Given the description of an element on the screen output the (x, y) to click on. 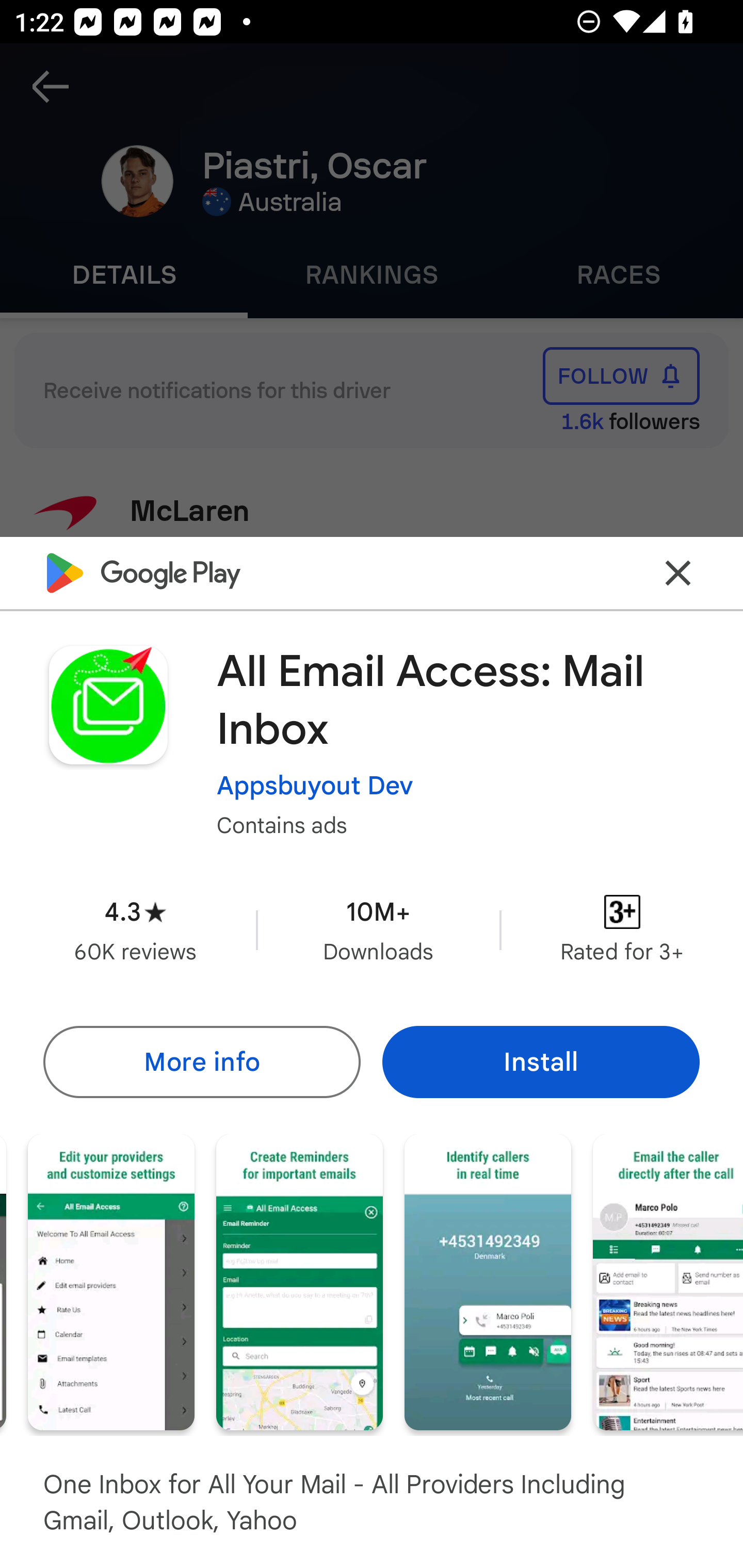
Close (677, 572)
Appsbuyout Dev (314, 784)
More info (201, 1061)
Install (540, 1061)
Screenshot "4" of "7" (111, 1281)
Screenshot "5" of "7" (299, 1281)
Screenshot "6" of "7" (487, 1281)
Screenshot "7" of "7" (667, 1281)
